Given the description of an element on the screen output the (x, y) to click on. 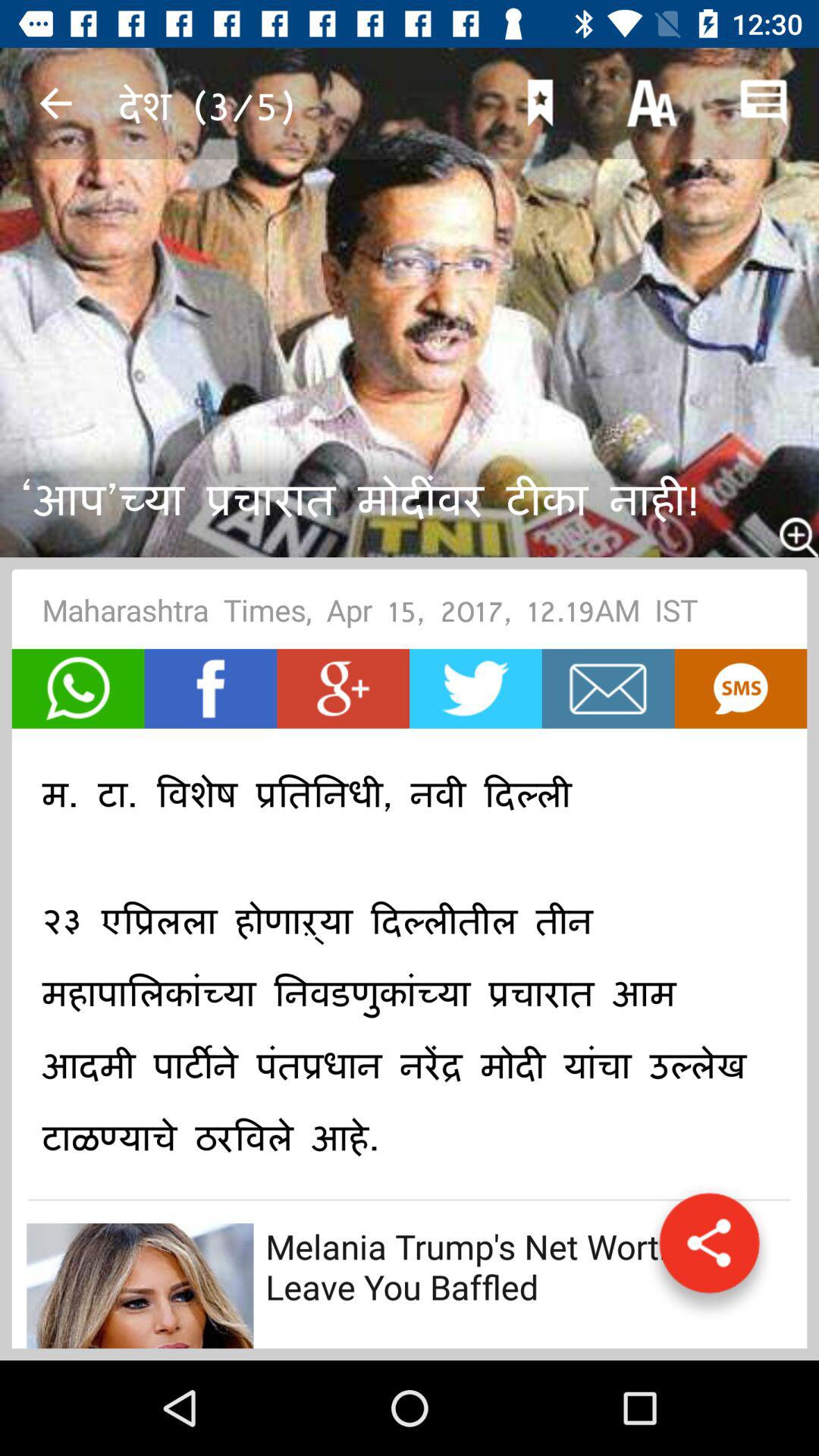
go back (55, 103)
